Given the description of an element on the screen output the (x, y) to click on. 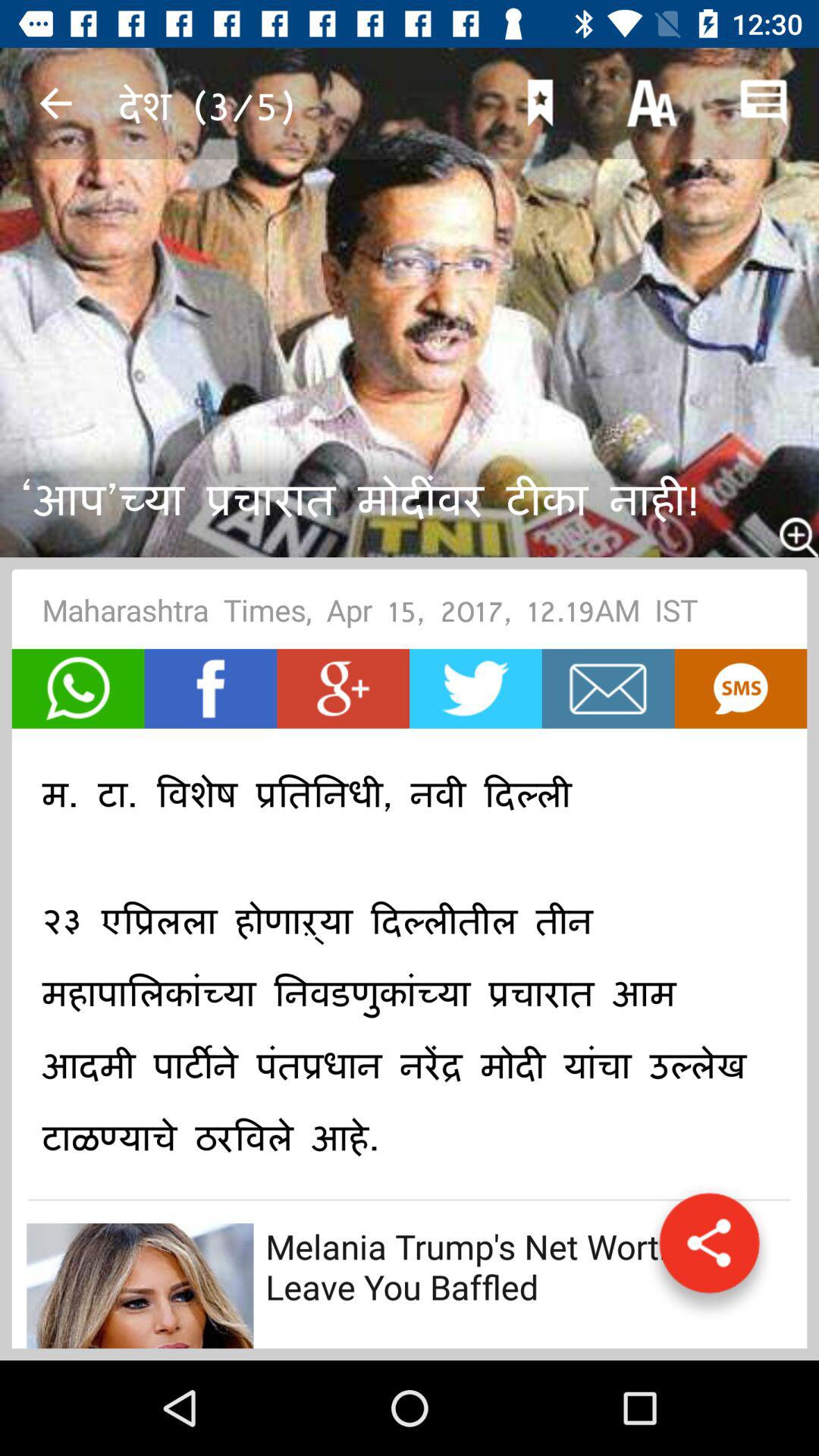
go back (55, 103)
